Given the description of an element on the screen output the (x, y) to click on. 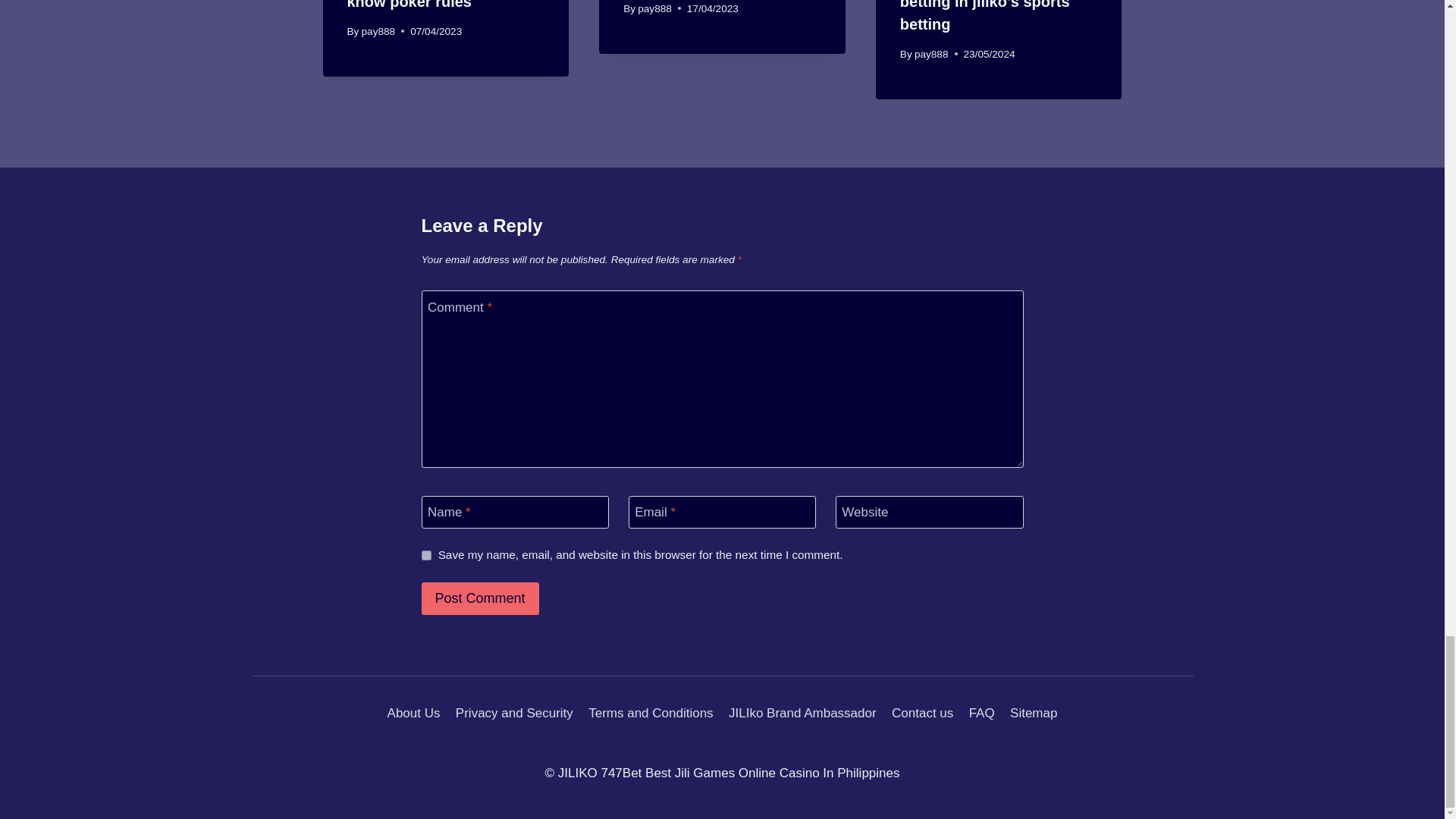
Post Comment (480, 598)
yes (426, 555)
